Given the description of an element on the screen output the (x, y) to click on. 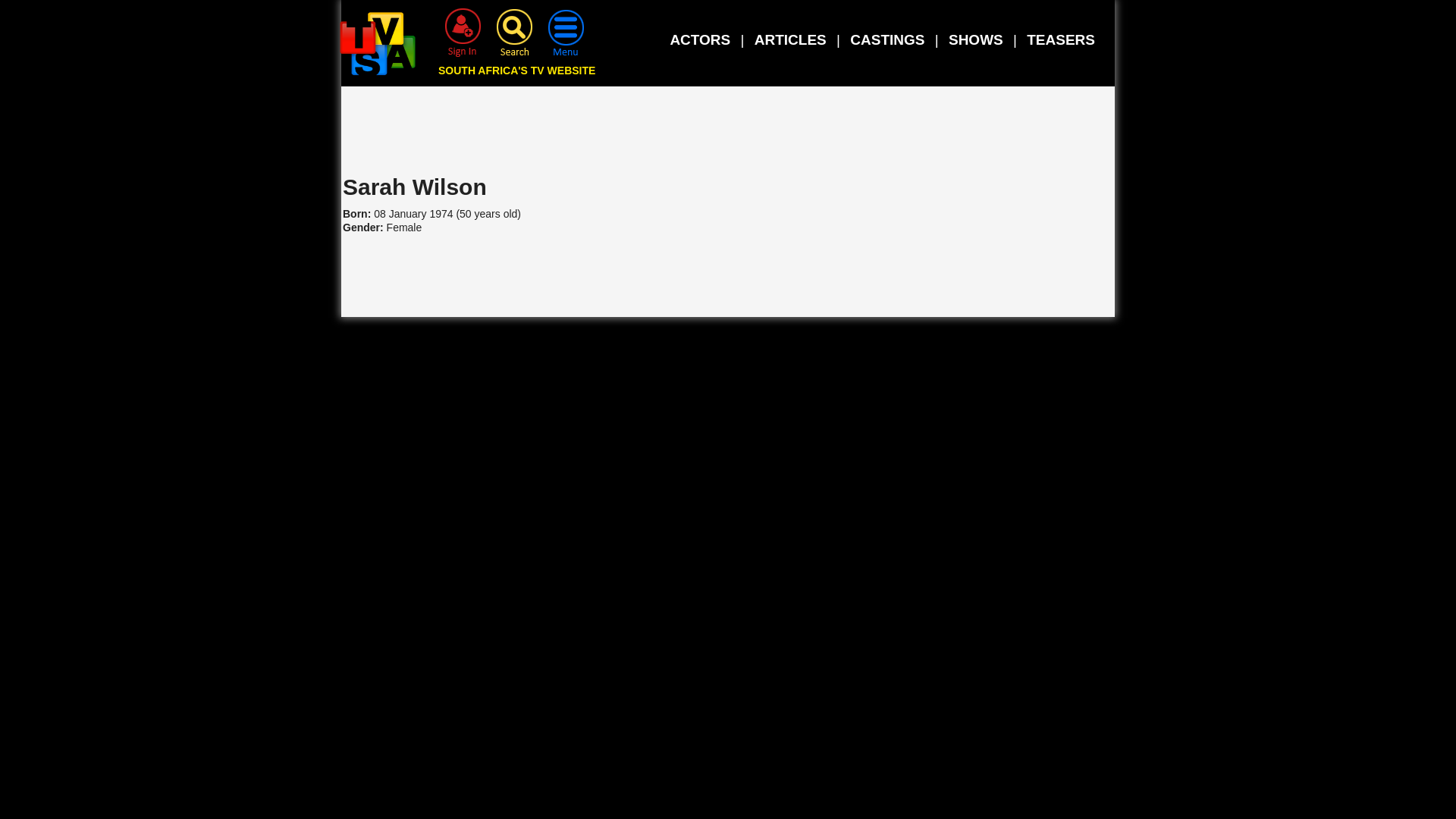
CASTINGS (887, 39)
SHOWS (976, 39)
TEASERS (1060, 39)
ARTICLES (790, 39)
ACTORS (699, 39)
